Given the description of an element on the screen output the (x, y) to click on. 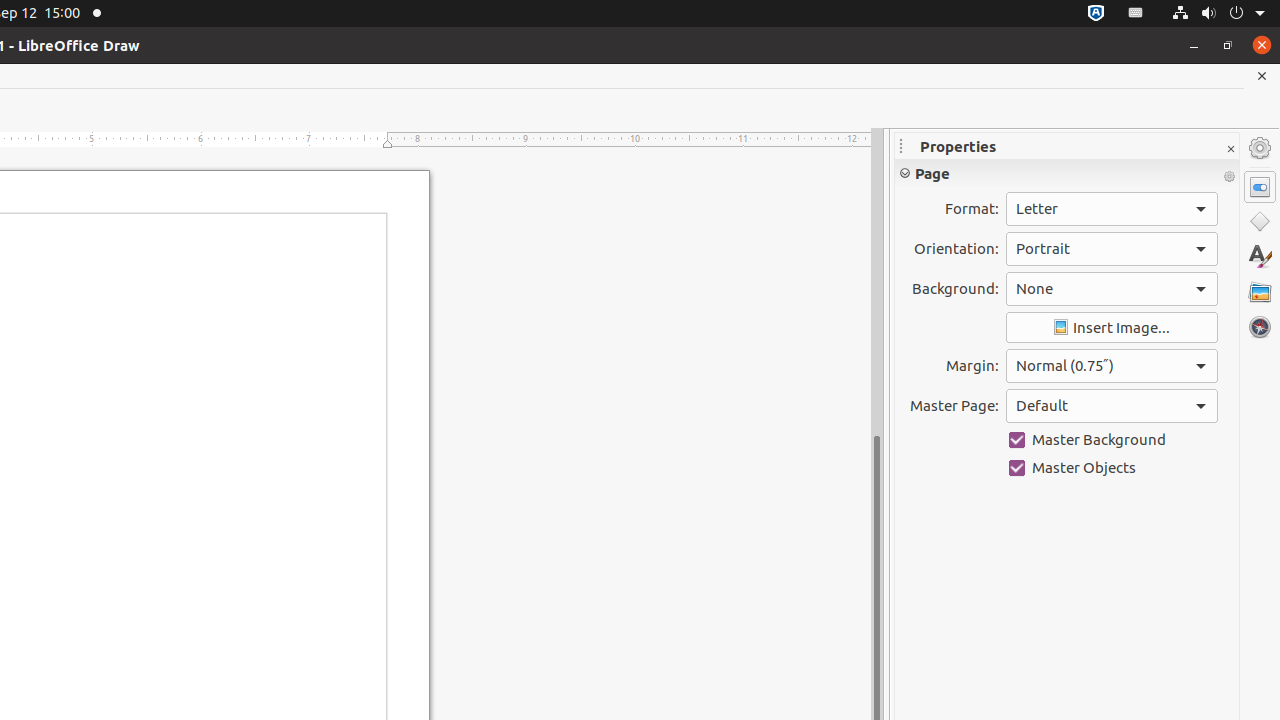
Master Objects Element type: check-box (1112, 468)
Shapes Element type: radio-button (1260, 222)
Format: Element type: combo-box (1112, 209)
Insert Image Element type: push-button (1112, 327)
:1.21/StatusNotifierItem Element type: menu (1136, 13)
